Given the description of an element on the screen output the (x, y) to click on. 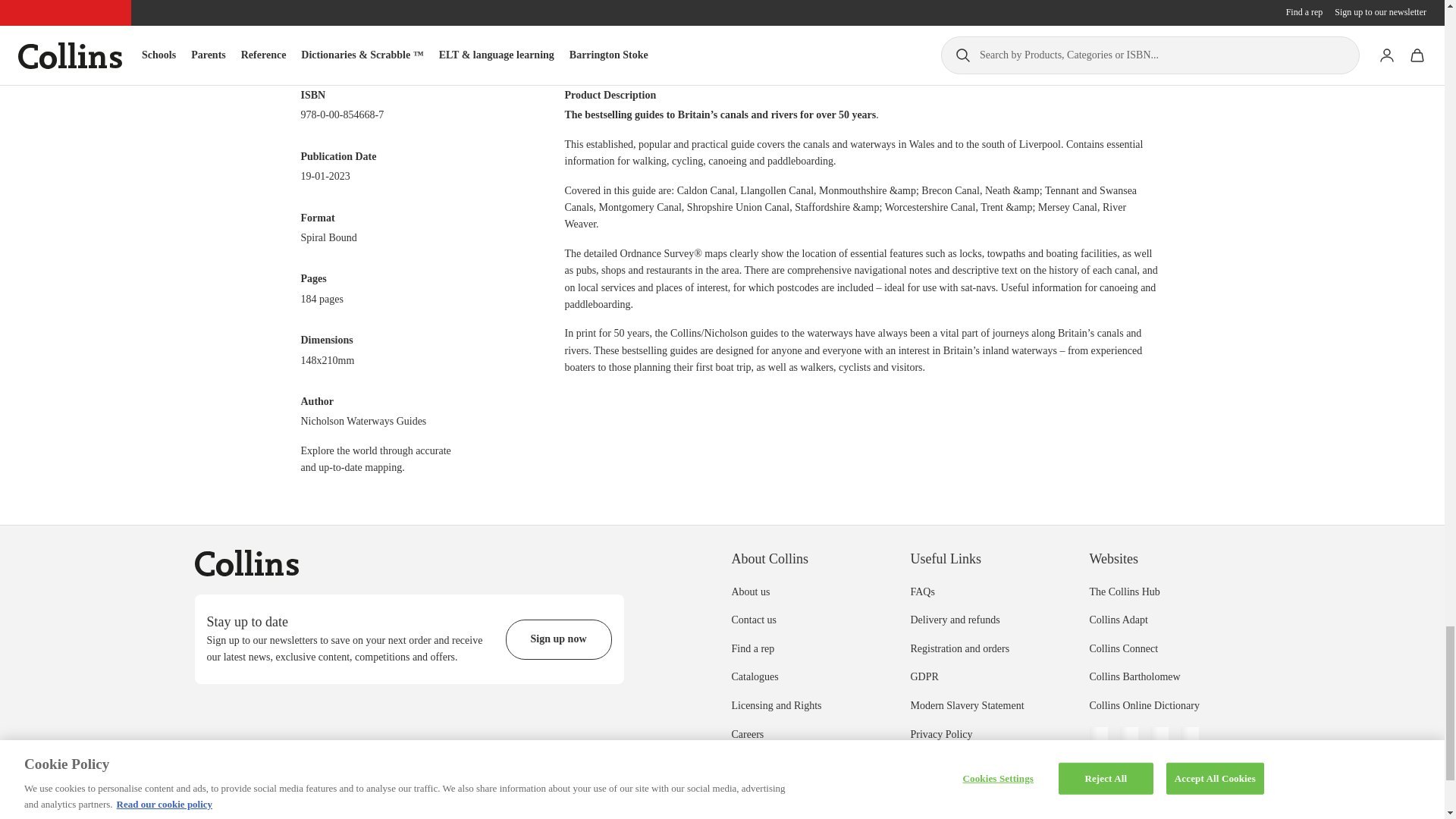
About us (750, 591)
Contact us (753, 619)
Find a rep (752, 648)
FAQs (922, 591)
Catalogues (753, 676)
Sign up now (558, 639)
Careers (746, 734)
Registration and orders (959, 648)
Delivery and refunds (954, 619)
Licensing and Rights (775, 705)
